Given the description of an element on the screen output the (x, y) to click on. 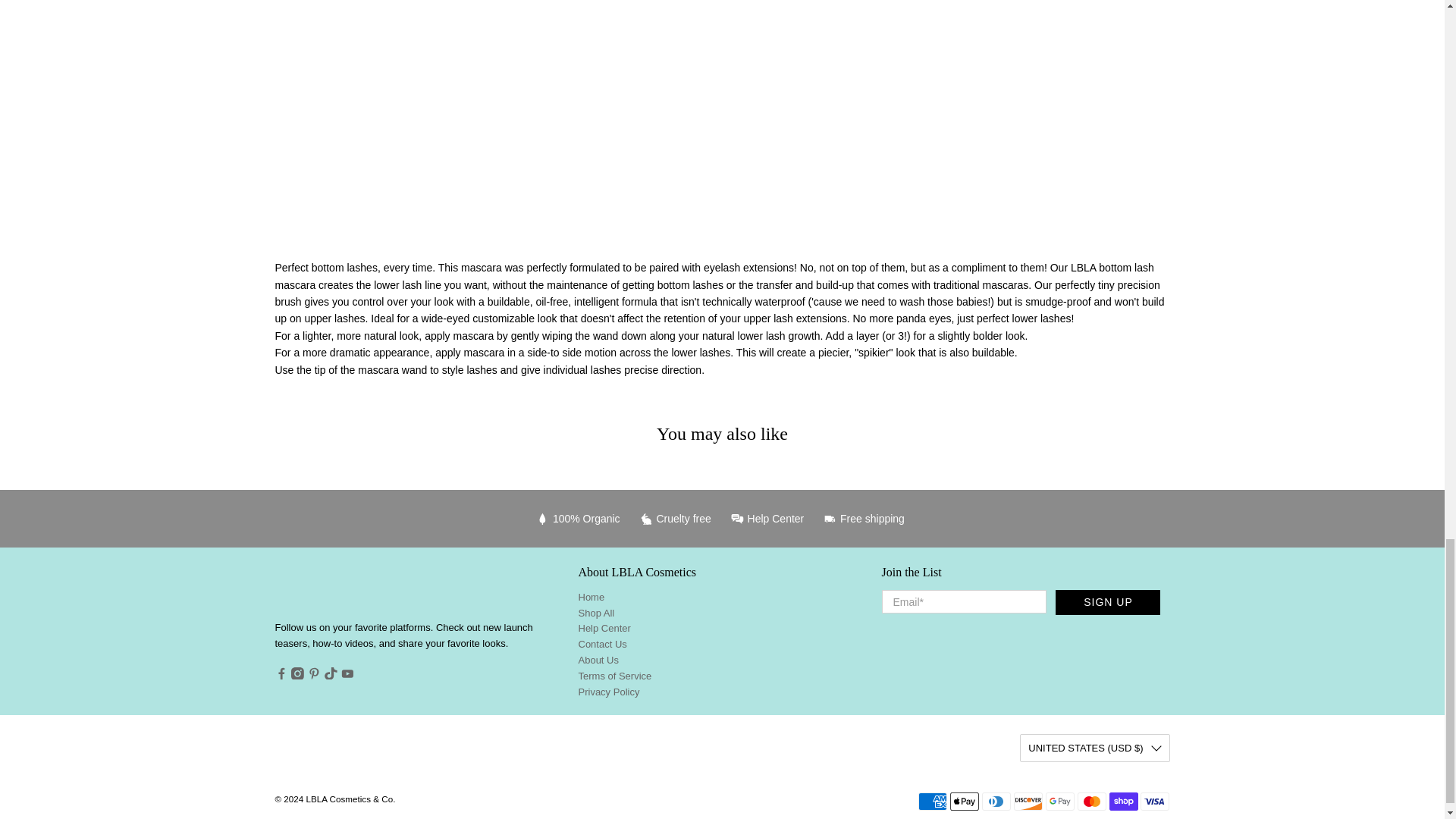
Apple Pay (964, 801)
American Express (932, 801)
Diners Club (995, 801)
Discover (1027, 801)
